Given the description of an element on the screen output the (x, y) to click on. 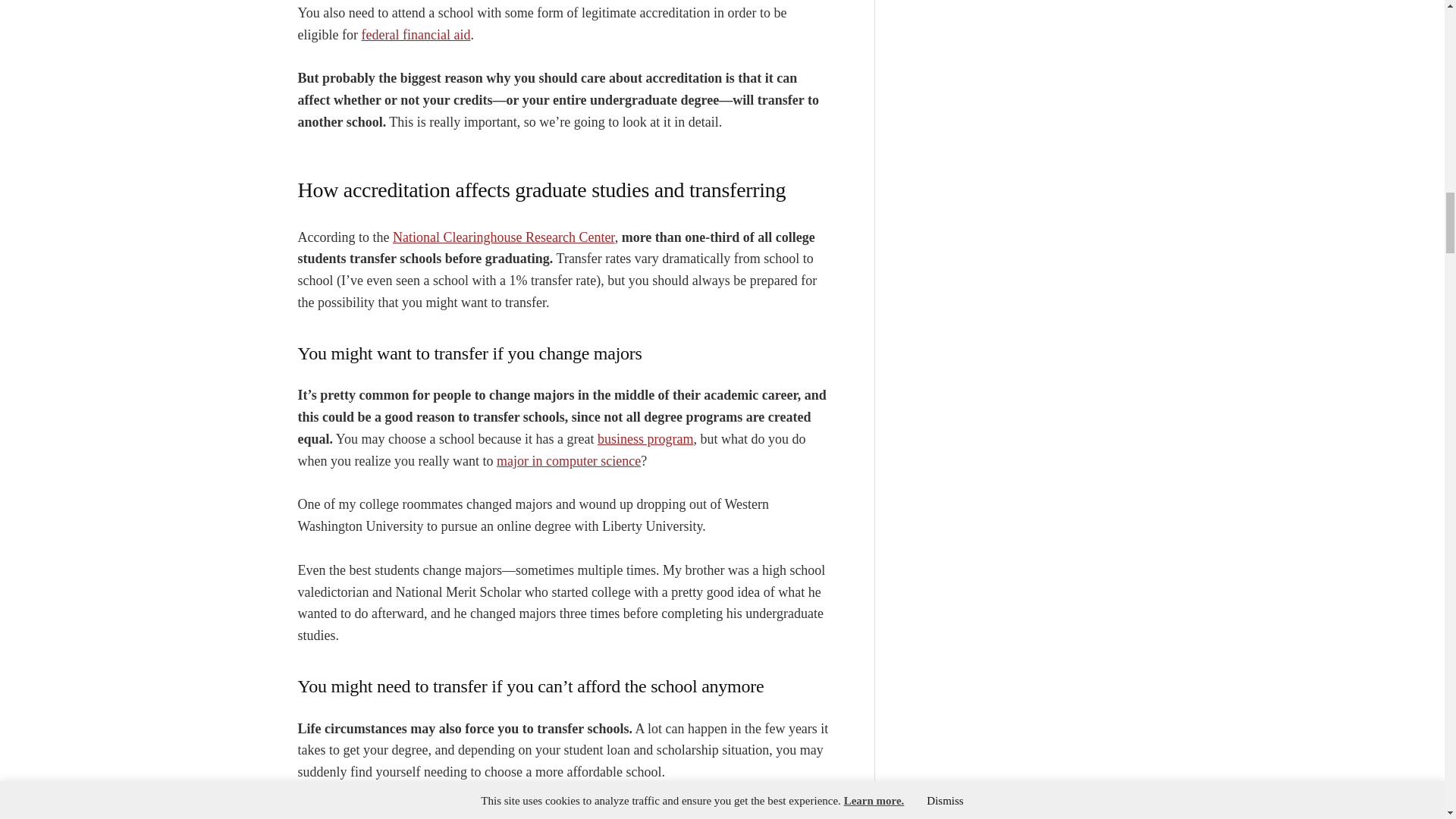
business program (644, 438)
major in computer science (568, 460)
federal financial aid (415, 34)
National Clearinghouse Research Center (503, 237)
